Given the description of an element on the screen output the (x, y) to click on. 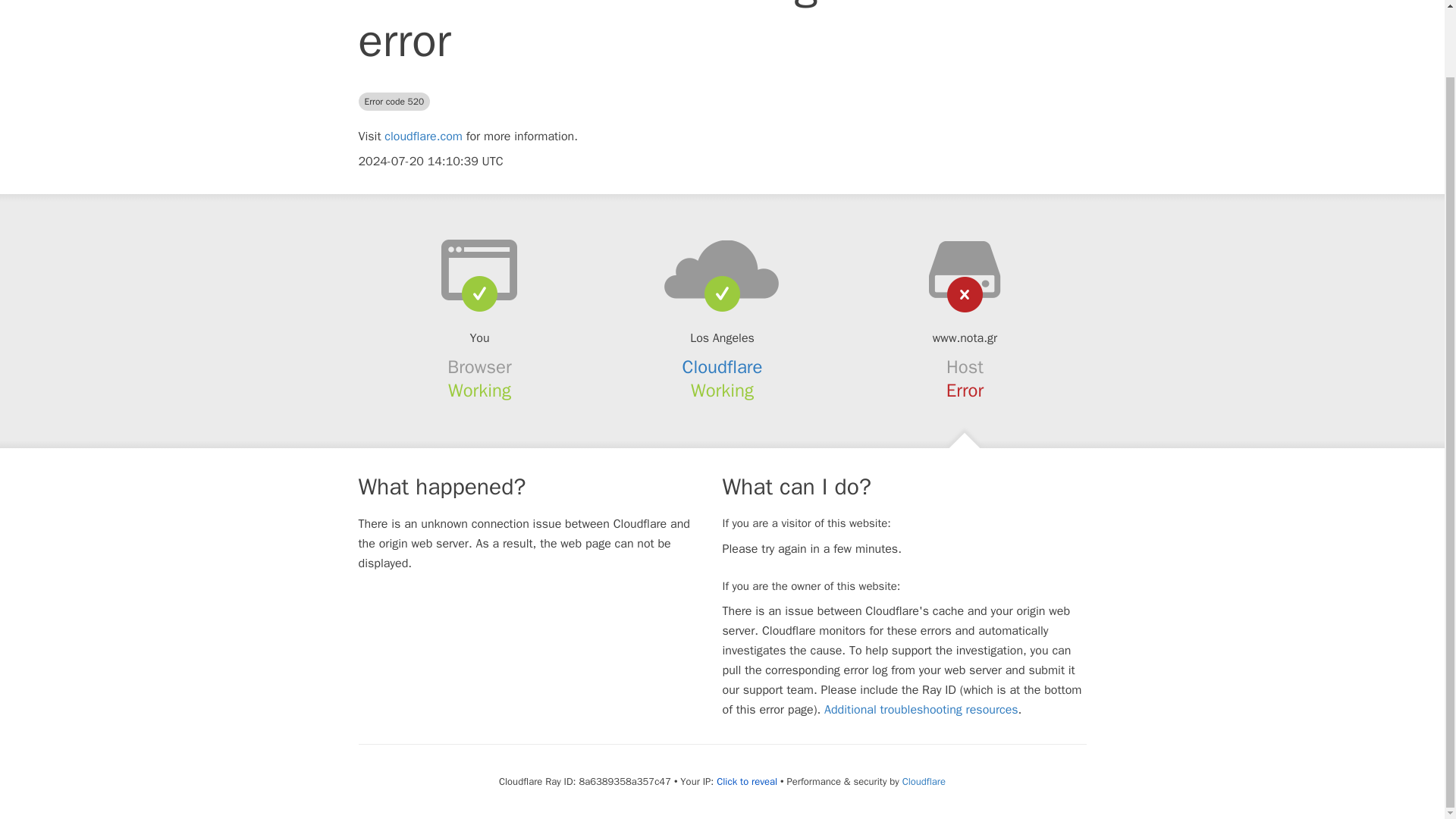
Cloudflare (722, 366)
Cloudflare (923, 780)
Additional troubleshooting resources (920, 709)
cloudflare.com (423, 136)
Click to reveal (746, 781)
